Given the description of an element on the screen output the (x, y) to click on. 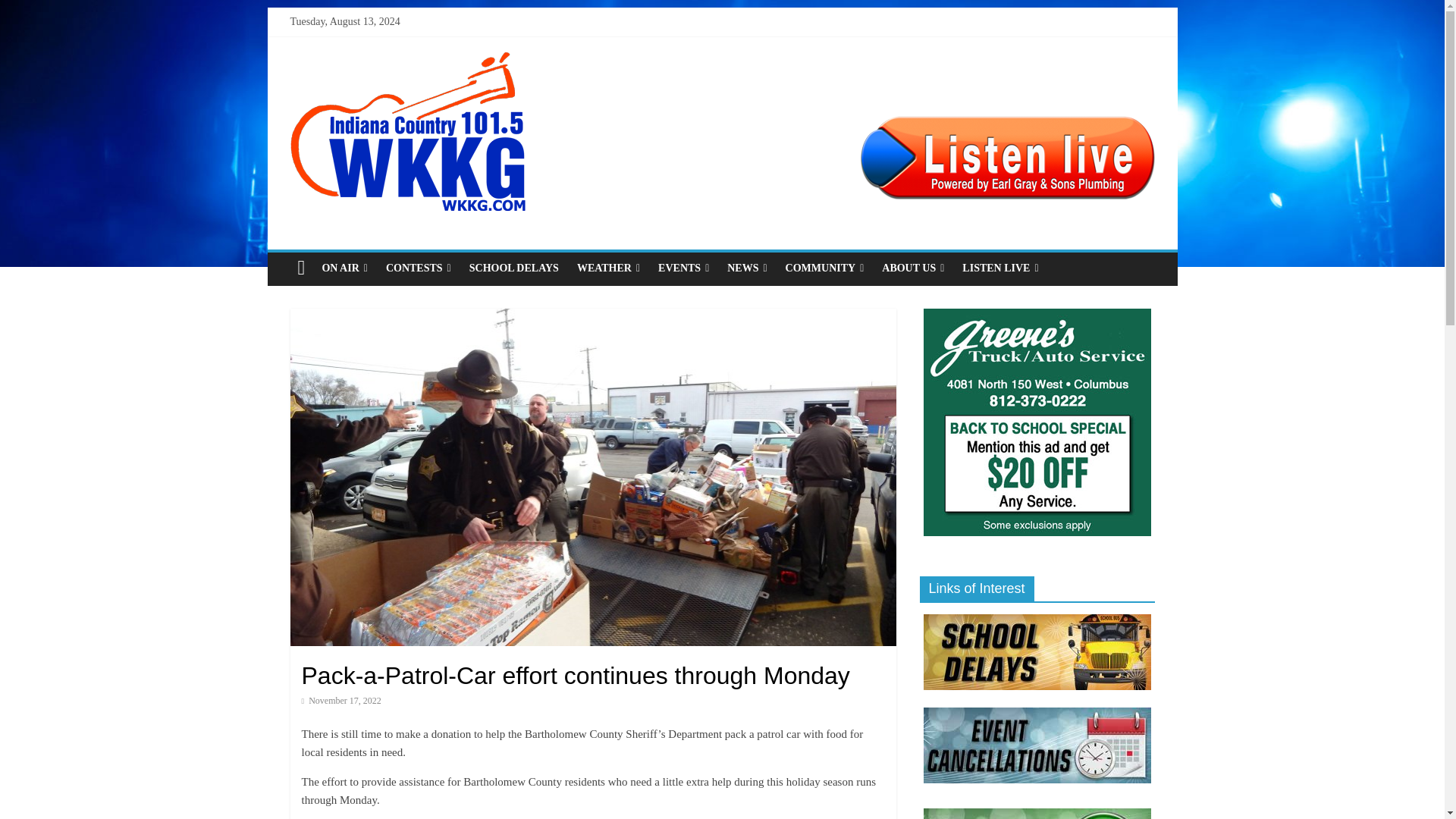
CONTESTS (418, 268)
COMMUNITY (824, 268)
ON AIR (345, 268)
WEATHER (608, 268)
8:20 am (341, 700)
ABOUT US (912, 268)
SCHOOL DELAYS (513, 268)
EVENTS (683, 268)
NEWS (746, 268)
